Given the description of an element on the screen output the (x, y) to click on. 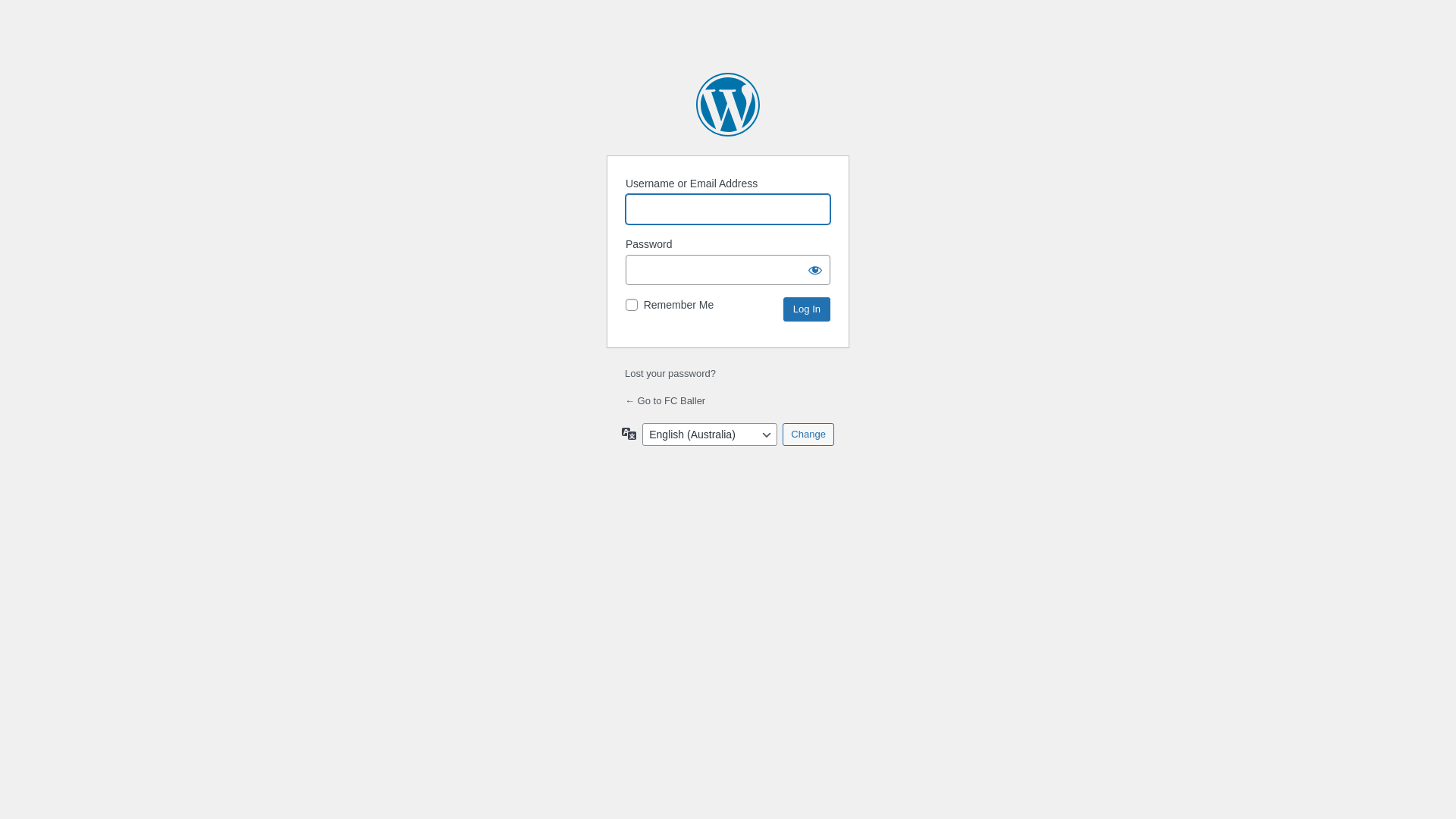
Change Element type: text (808, 434)
Powered by WordPress Element type: text (727, 104)
Log In Element type: text (806, 309)
Lost your password? Element type: text (669, 373)
